Given the description of an element on the screen output the (x, y) to click on. 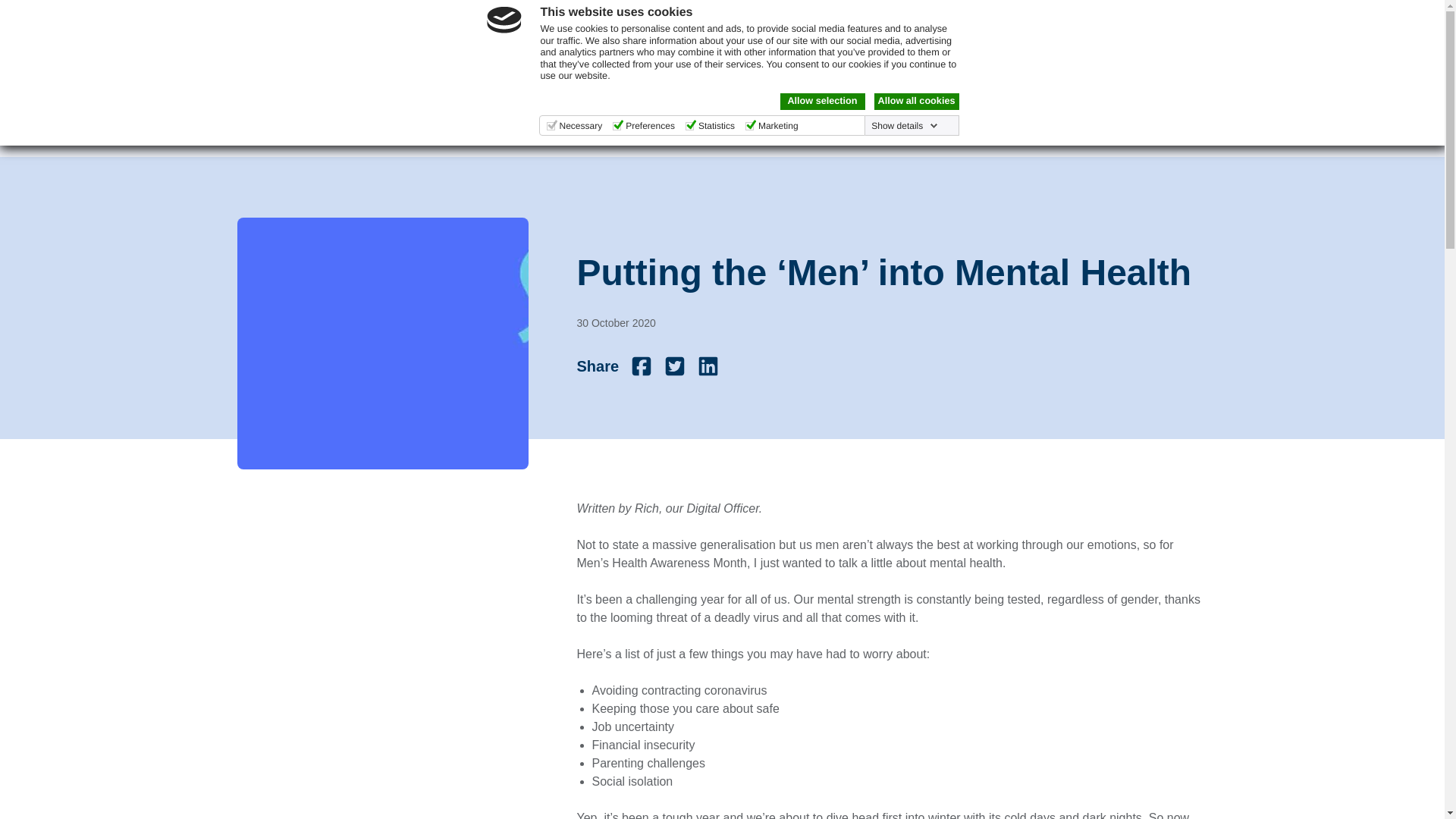
Allow selection (821, 101)
Show details (903, 125)
Allow all cookies (915, 101)
